Given the description of an element on the screen output the (x, y) to click on. 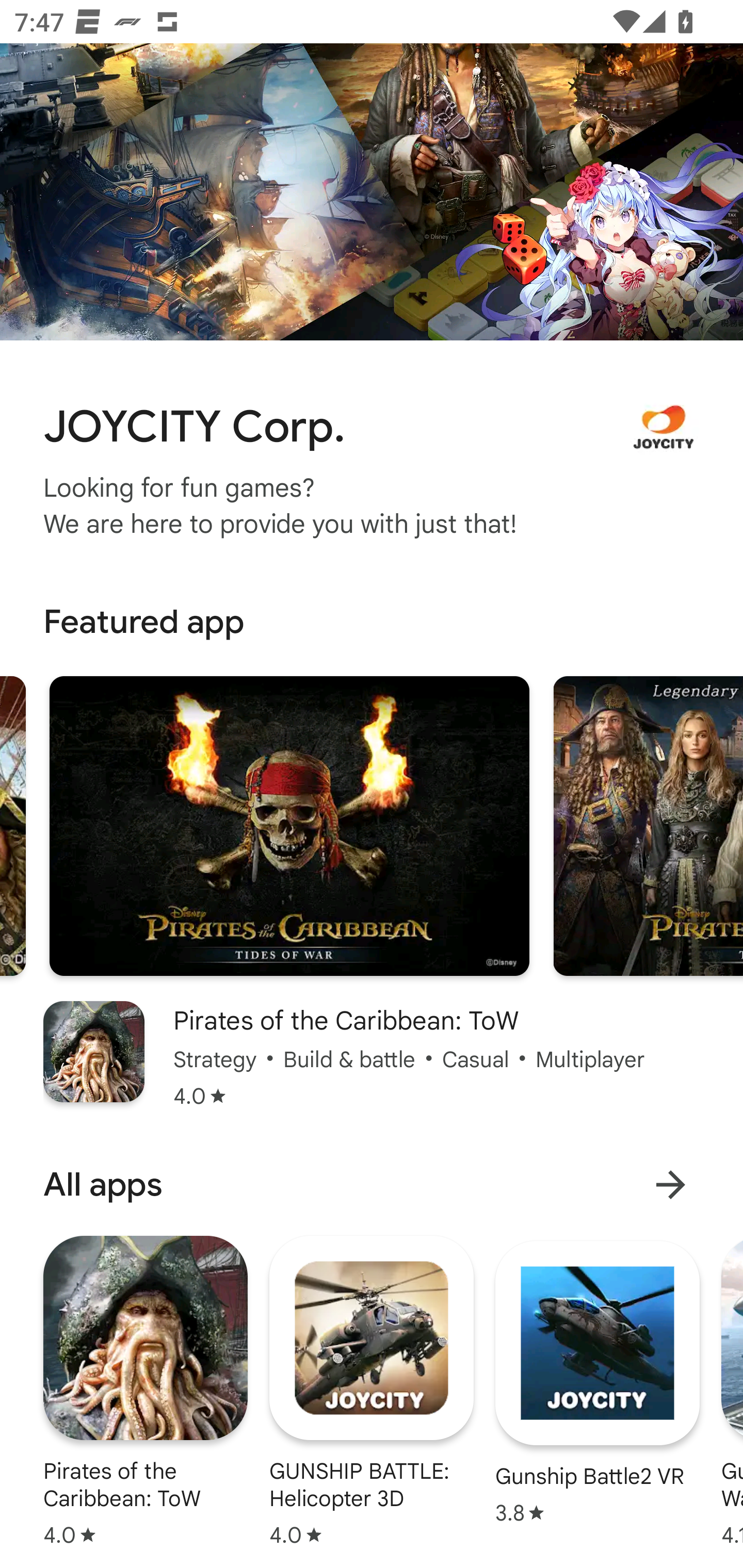
Screenshot "1" of "7" (289, 825)
All apps More results for All apps (371, 1184)
More results for All apps (670, 1184)
Pirates of the Caribbean: ToW
Star rating: 4.0
 (145, 1390)
GUNSHIP BATTLE: Helicopter 3D
Star rating: 4.0
 (371, 1390)
Gunship Battle2 VR
Star rating: 3.8
 (597, 1381)
